Given the description of an element on the screen output the (x, y) to click on. 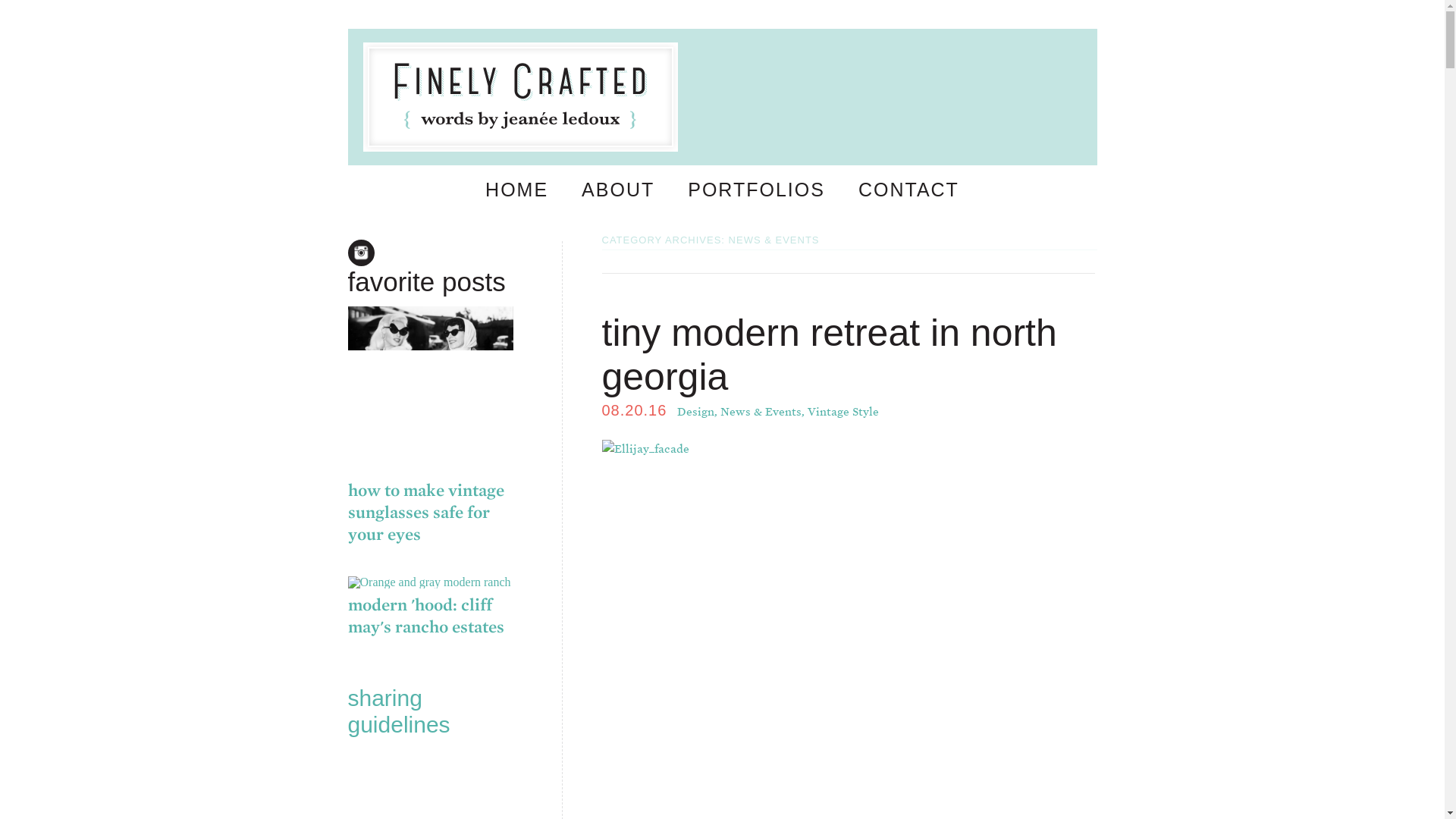
PORTFOLIOS (756, 189)
CONTACT (908, 189)
Vintage Style (843, 411)
tiny modern retreat in north georgia (829, 354)
ABOUT (617, 189)
Design (695, 411)
HOME (516, 189)
